Given the description of an element on the screen output the (x, y) to click on. 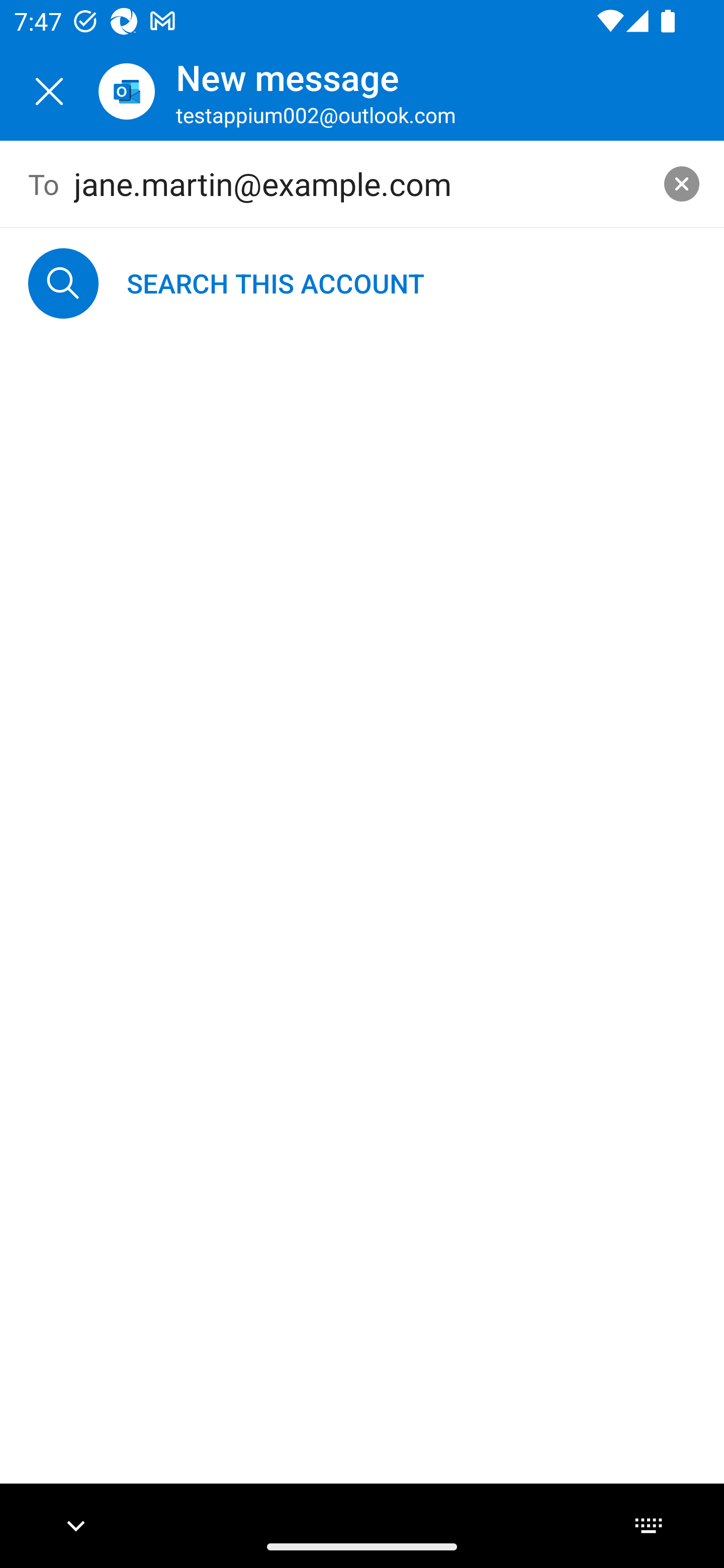
Close (49, 91)
jane.martin@example.com (362, 184)
clear search (681, 183)
